Given the description of an element on the screen output the (x, y) to click on. 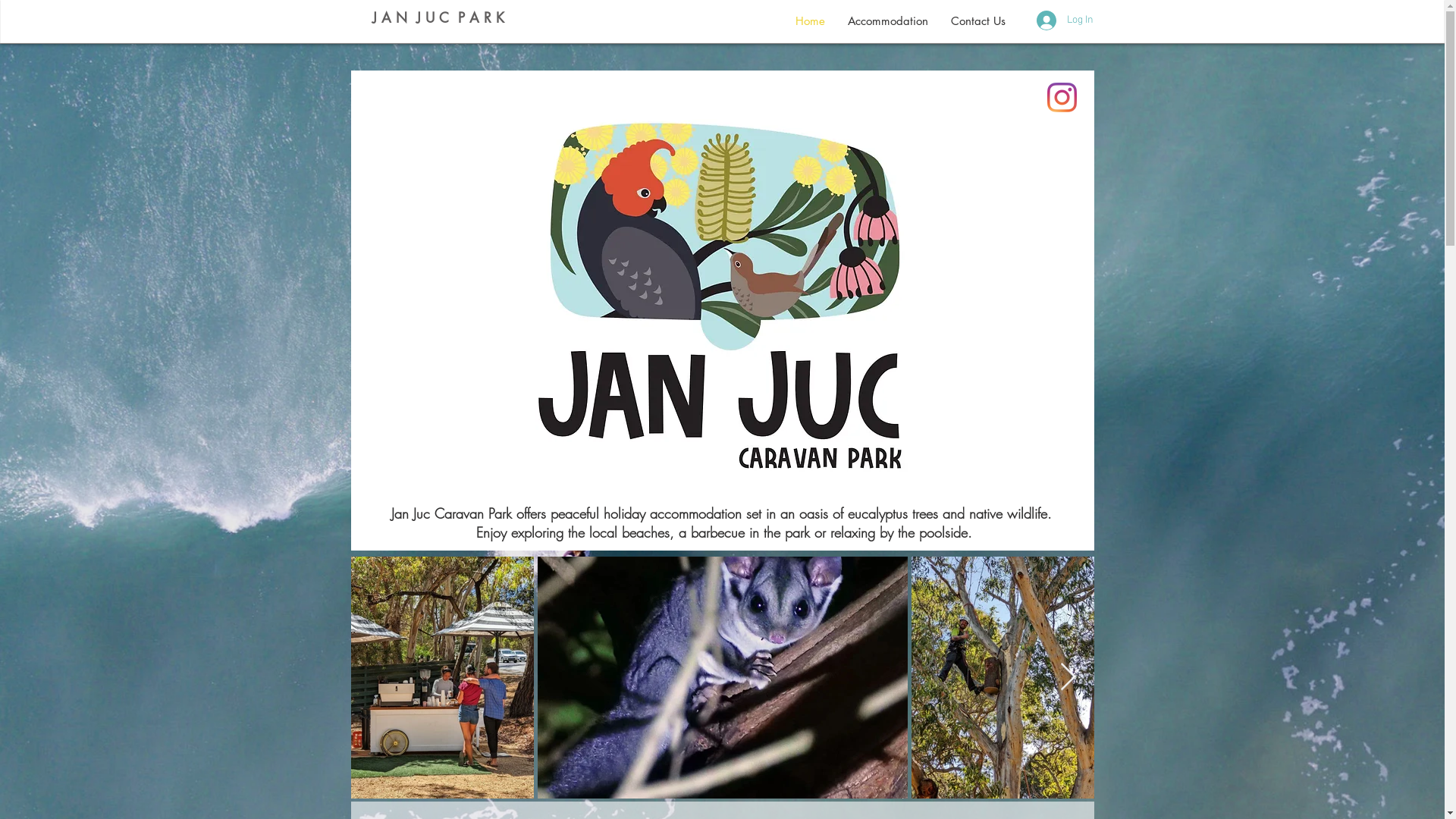
Home Element type: text (810, 21)
J A N  J U C  P A R K Element type: text (437, 17)
Log In Element type: text (1056, 20)
Accommodation Element type: text (886, 21)
Contact Us Element type: text (977, 21)
